Given the description of an element on the screen output the (x, y) to click on. 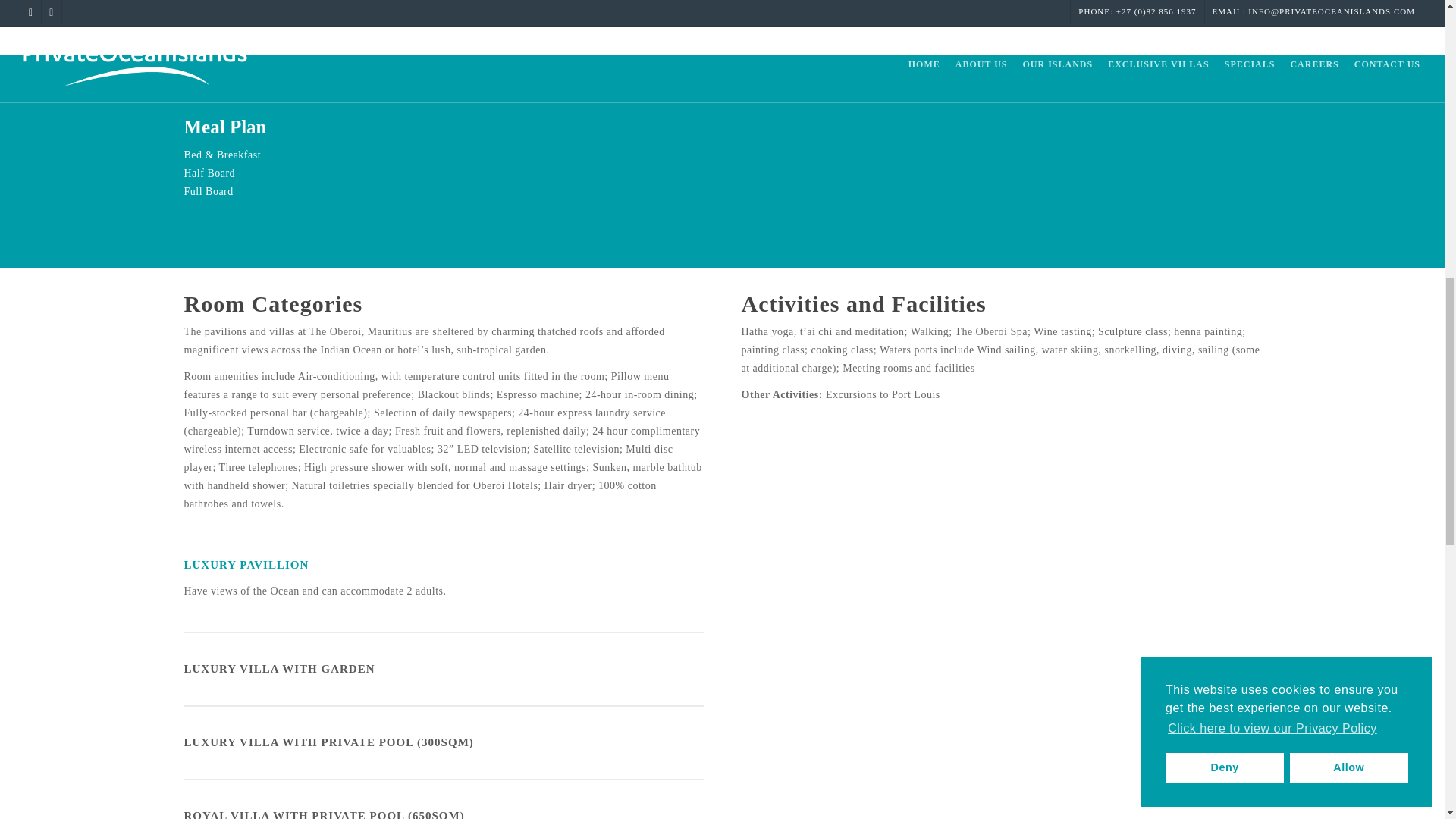
LUXURY PAVILLION (443, 563)
LUXURY VILLA WITH GARDEN (443, 669)
